Given the description of an element on the screen output the (x, y) to click on. 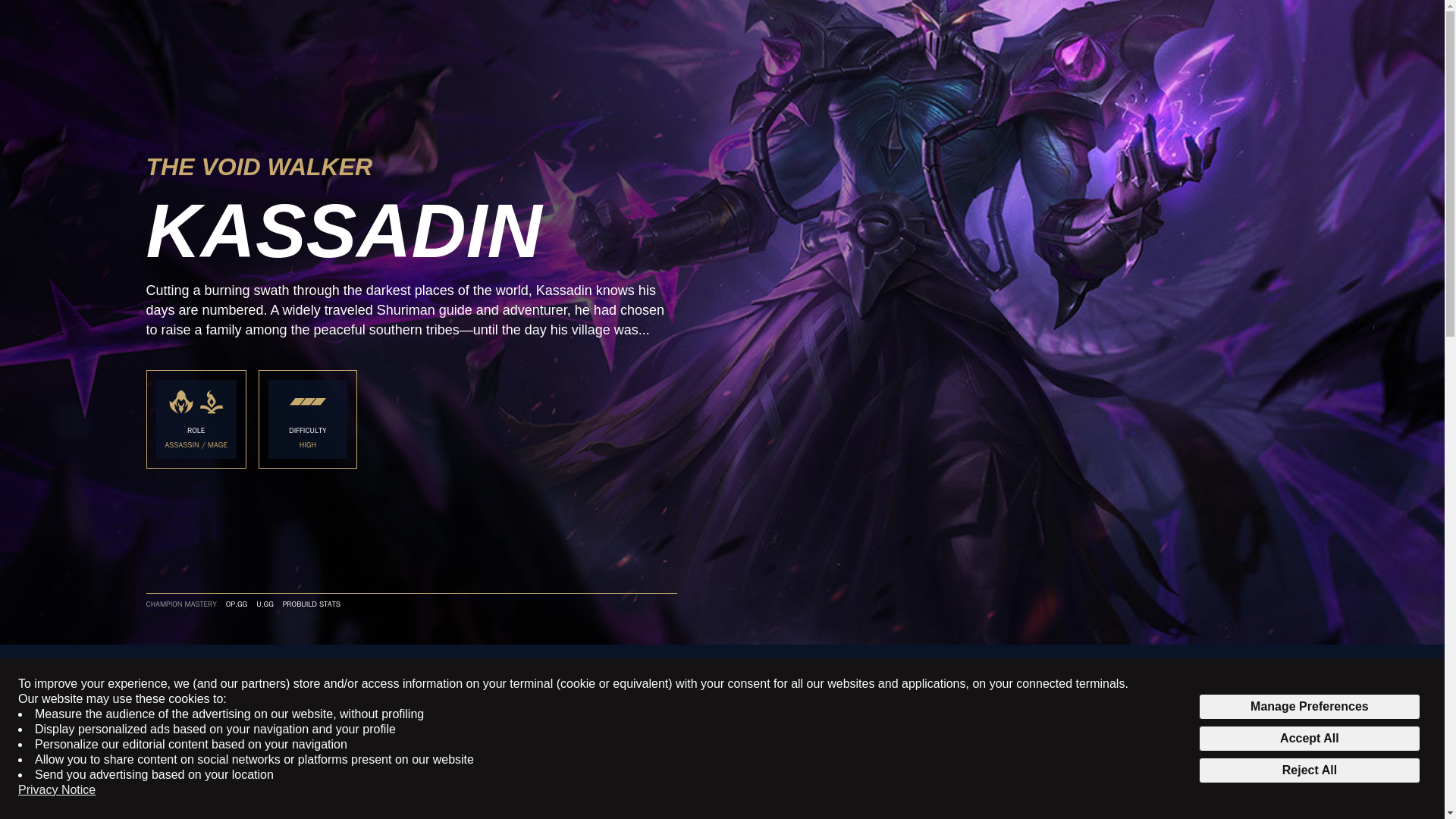
Accept All (1309, 738)
Reject All (1309, 769)
Privacy Notice (56, 789)
difficulty-3-icon (307, 401)
Manage Preferences (1309, 706)
OP.GG (236, 603)
U.GG (264, 603)
assassin-icon (180, 401)
PROBUILD STATS (311, 603)
mage-icon (211, 401)
